Given the description of an element on the screen output the (x, y) to click on. 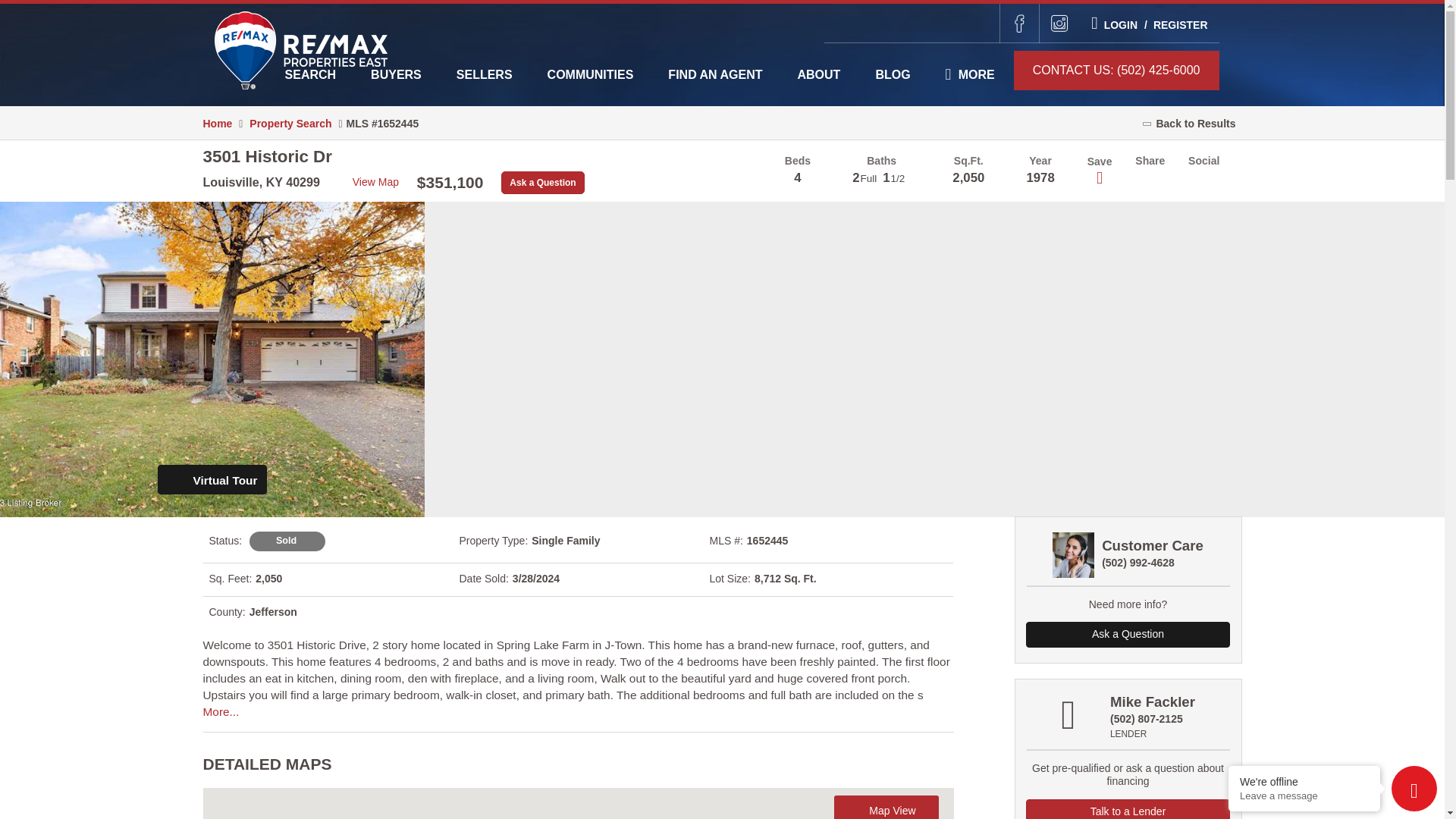
REGISTER (1174, 24)
We're offline (1304, 781)
View Map (367, 182)
SEARCH (310, 75)
LOGIN (1113, 24)
Leave a message (1304, 795)
BUYERS (396, 75)
COMMUNITIES (590, 75)
SELLERS (484, 75)
